Given the description of an element on the screen output the (x, y) to click on. 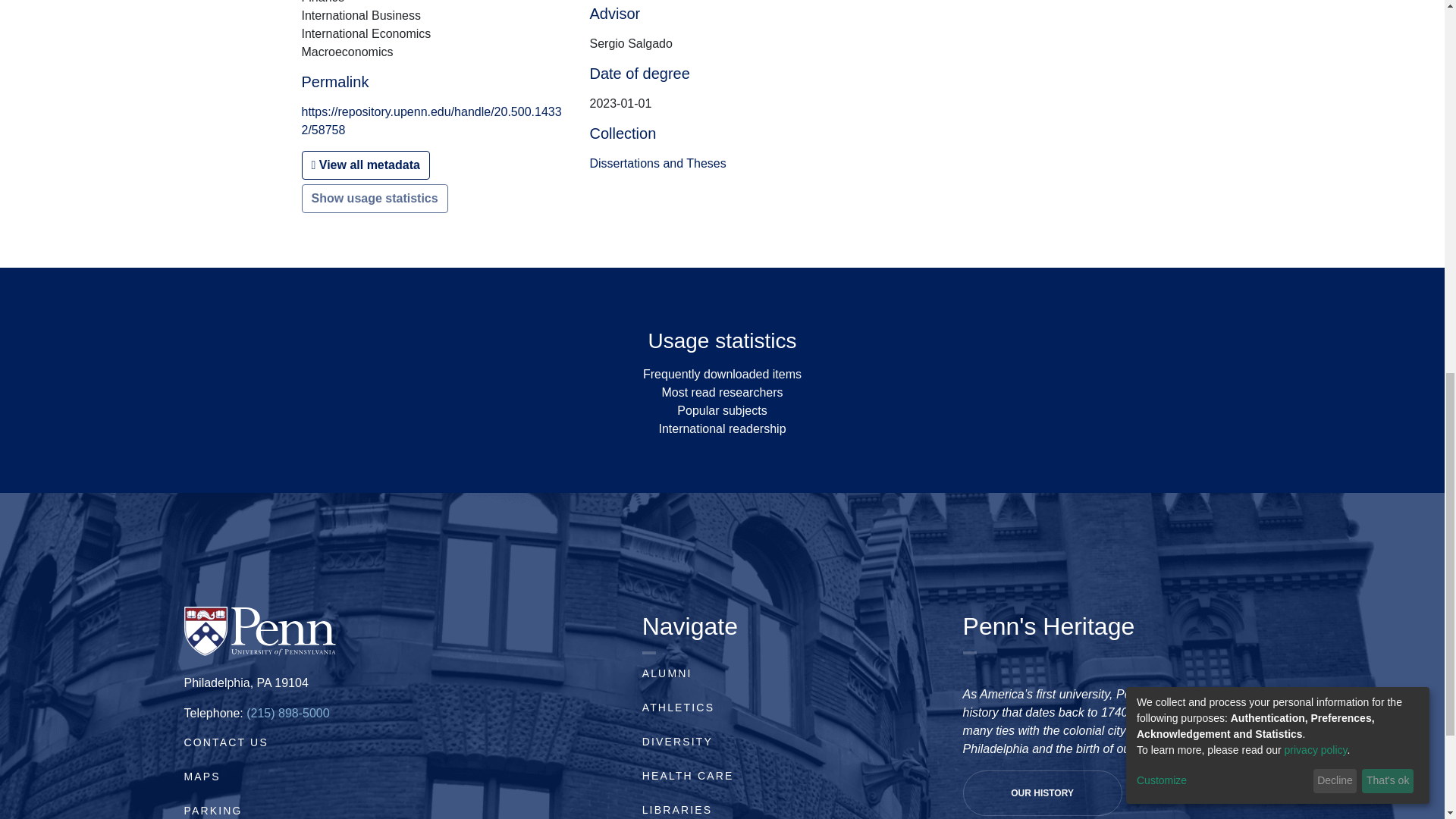
OUR HISTORY (1042, 792)
PARKING (212, 810)
International readership (722, 428)
Popular subjects (722, 410)
Frequently downloaded items (722, 373)
Most read researchers (722, 391)
Frequently downloaded items (722, 373)
ALUMNI (667, 673)
International readership (722, 428)
View all metadata (365, 164)
HEALTH CARE (687, 775)
Show usage statistics (374, 198)
Dissertations and Theses (657, 163)
DIVERSITY (677, 741)
MAPS (201, 776)
